Given the description of an element on the screen output the (x, y) to click on. 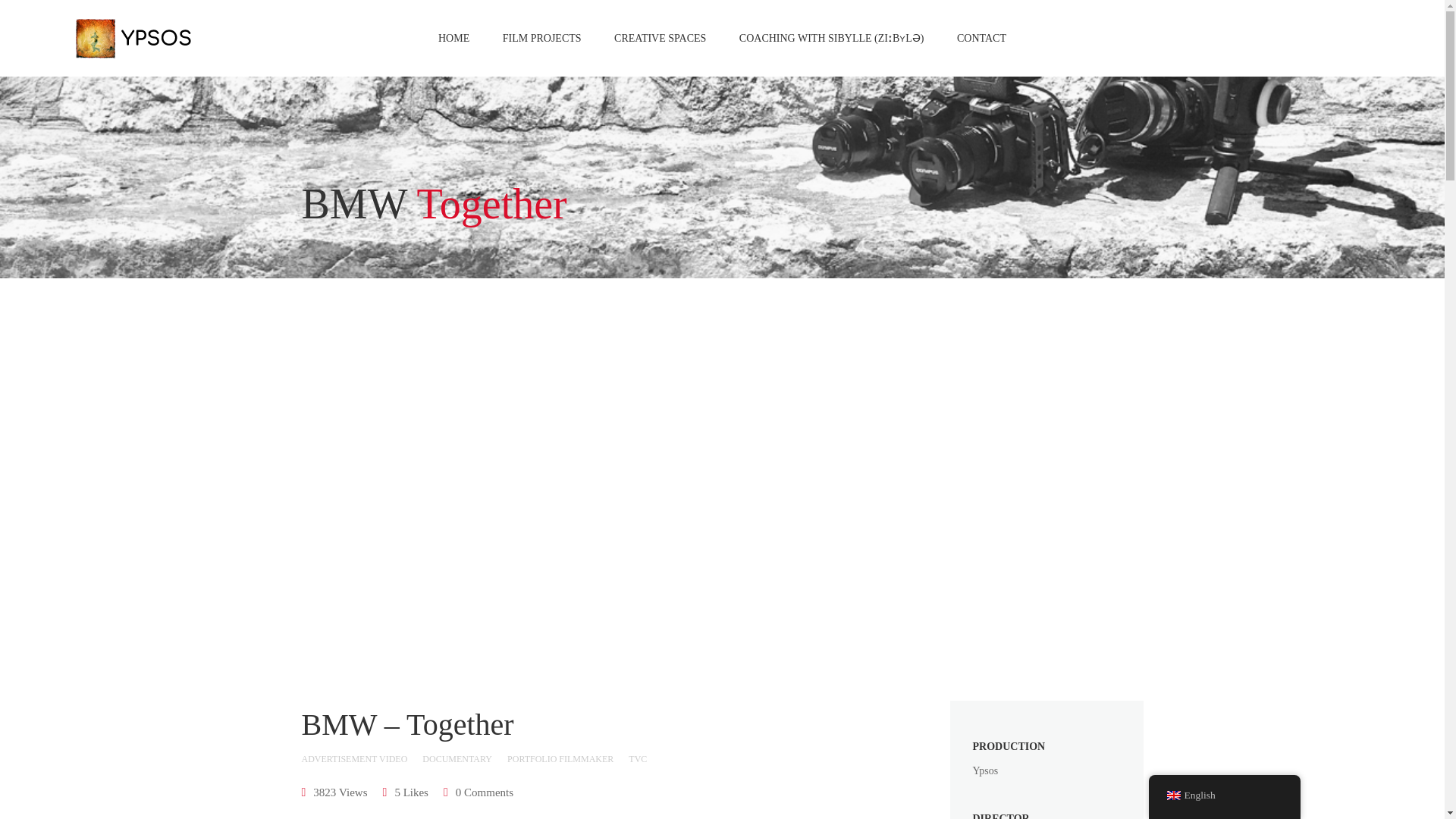
5 Likes (405, 792)
DOCUMENTARY (457, 759)
Like (405, 792)
CREATIVE SPACES (659, 38)
ADVERTISEMENT VIDEO (354, 759)
PORTFOLIO FILMMAKER (559, 759)
FILM PROJECTS (541, 38)
HOME (453, 38)
vimeo-player (544, 479)
CONTACT (982, 38)
TVC (637, 759)
